Given the description of an element on the screen output the (x, y) to click on. 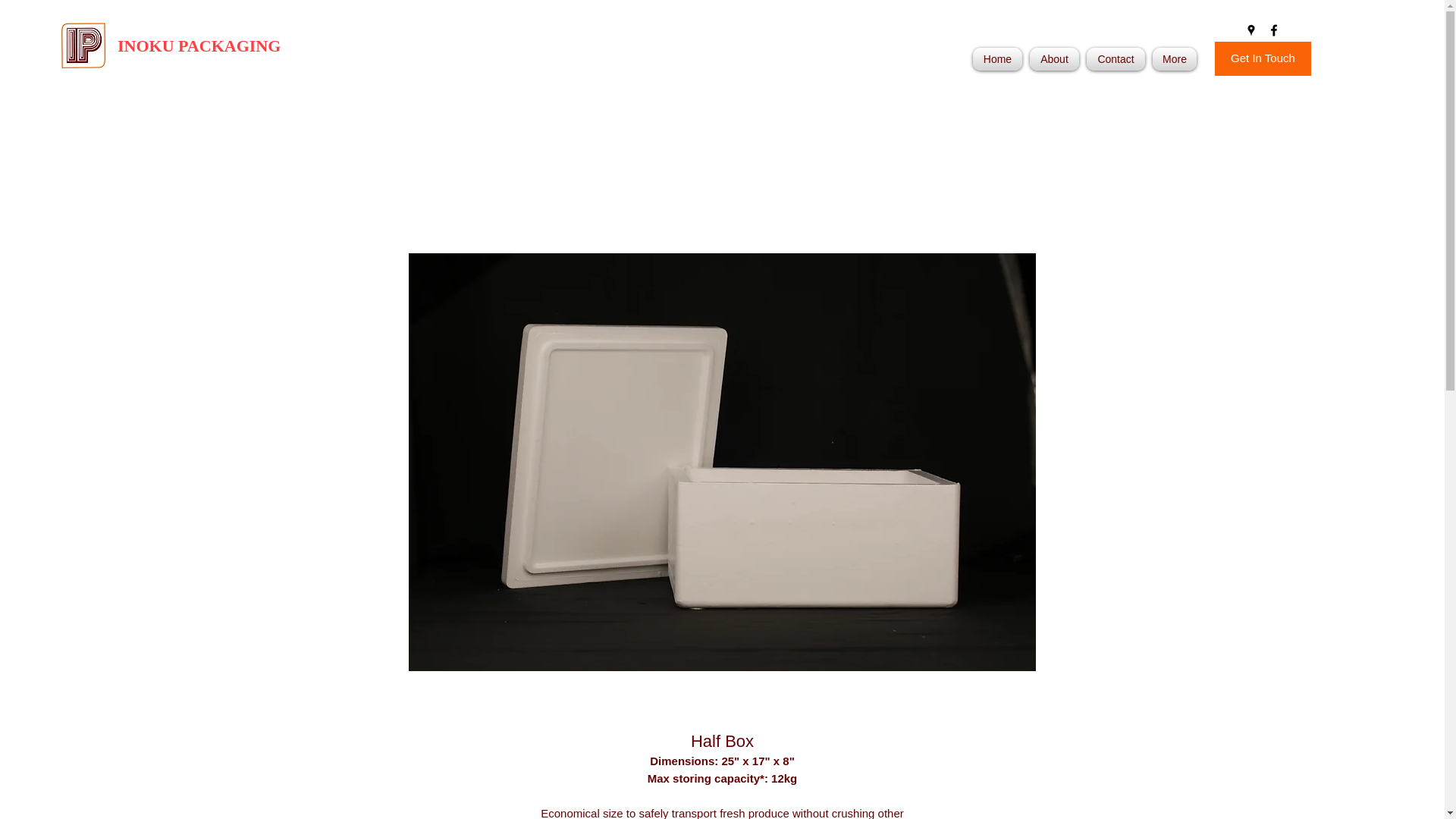
Get In Touch (1262, 58)
Contact (1115, 58)
INOKU PACKAGING (199, 45)
About (1054, 58)
Home (999, 58)
